Given the description of an element on the screen output the (x, y) to click on. 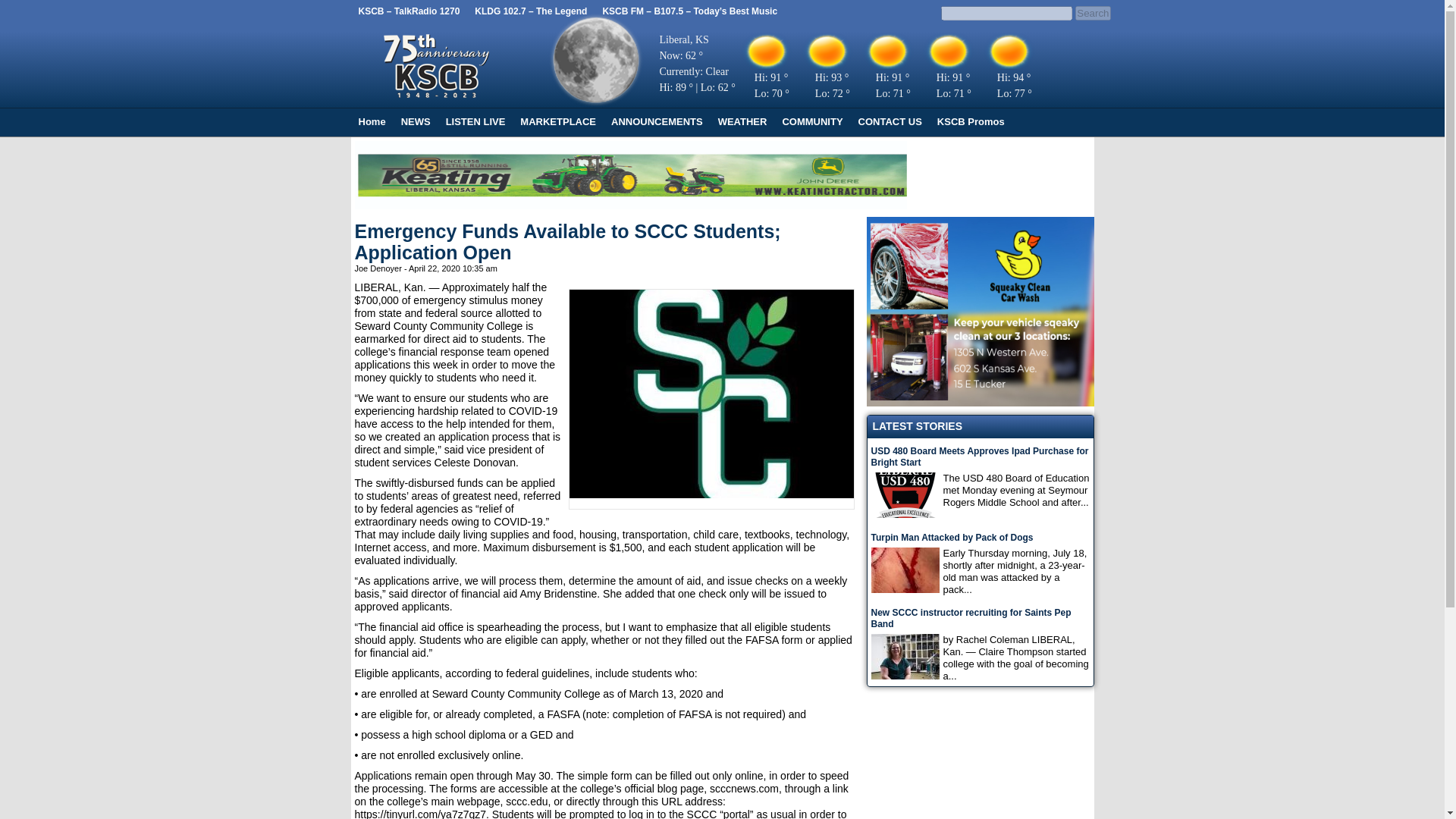
Search (1092, 12)
WEATHER (742, 121)
LISTEN LIVE (475, 121)
CONTACT US (890, 121)
USD 480 Board Meets Approves Ipad Purchase for Bright Start (979, 456)
MARKETPLACE (558, 121)
COMMUNITY (812, 121)
Search (1092, 12)
Turpin Man Attacked by Pack of Dogs (979, 537)
New SCCC instructor recruiting for Saints Pep Band (979, 618)
ANNOUNCEMENTS (657, 121)
KSCB Promos (970, 121)
NEWS (415, 121)
Home (371, 121)
